Given the description of an element on the screen output the (x, y) to click on. 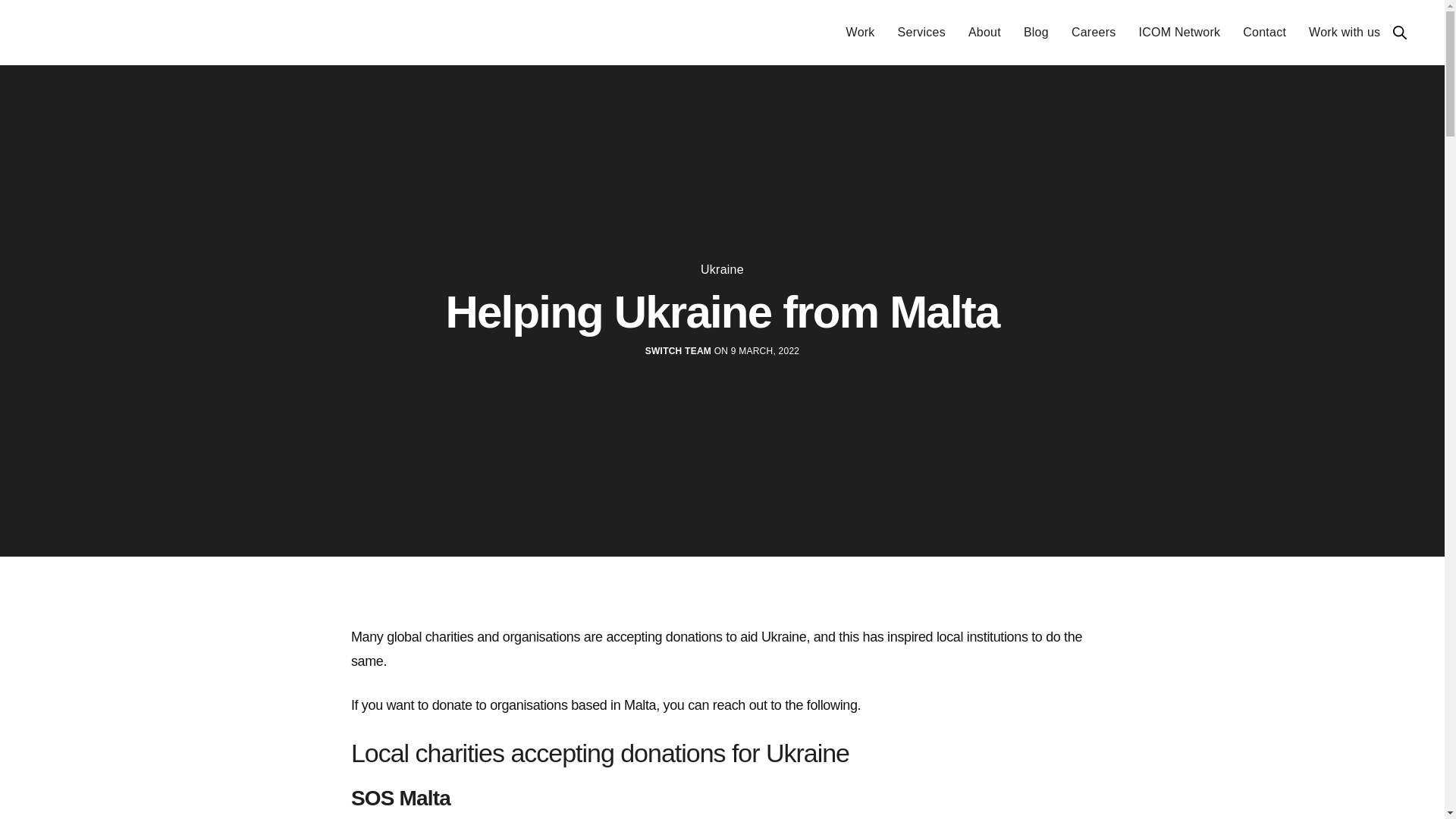
Services (921, 32)
Careers (1093, 32)
Ukraine (722, 269)
Posts by Switch Team (678, 350)
SWITCH TEAM (678, 350)
Search (1399, 32)
Contact (1264, 32)
Work with us (1344, 32)
ICOM Network (1179, 32)
